Given the description of an element on the screen output the (x, y) to click on. 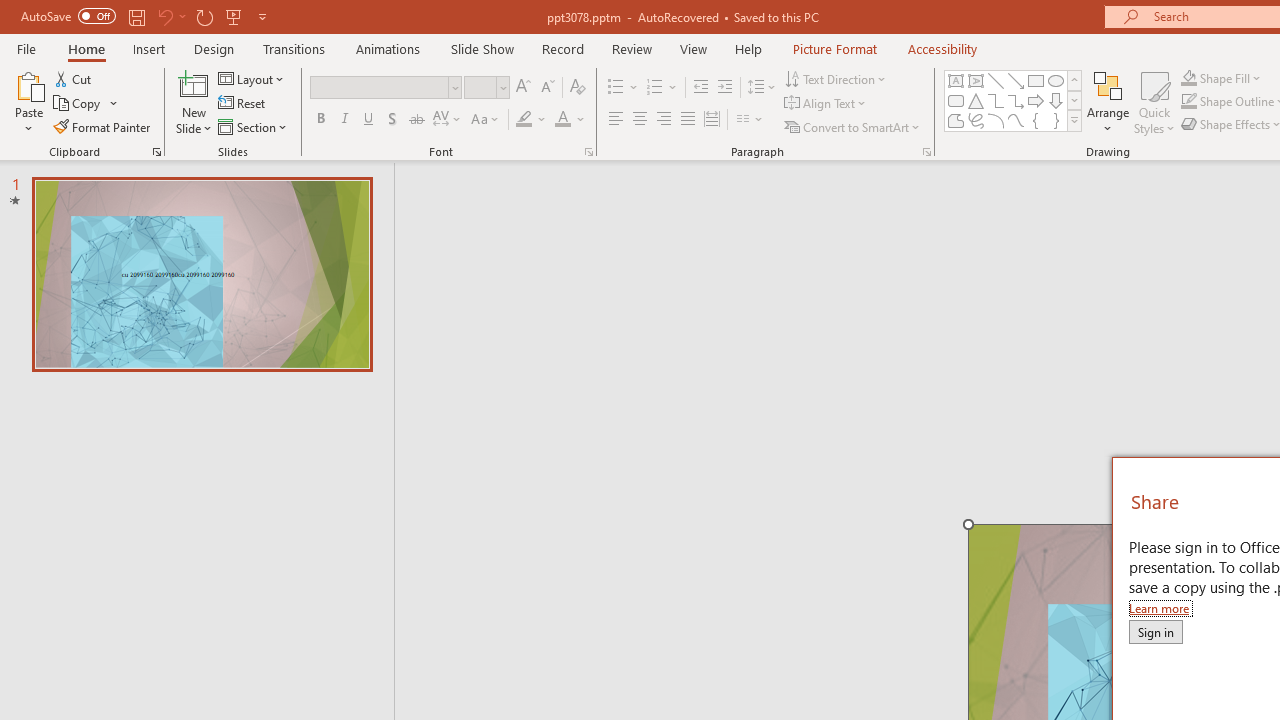
Line Spacing (762, 87)
Quick Styles (1154, 102)
Columns (750, 119)
Layout (252, 78)
Format Painter (103, 126)
Increase Indent (725, 87)
Office Clipboard... (156, 151)
Change Case (486, 119)
